Given the description of an element on the screen output the (x, y) to click on. 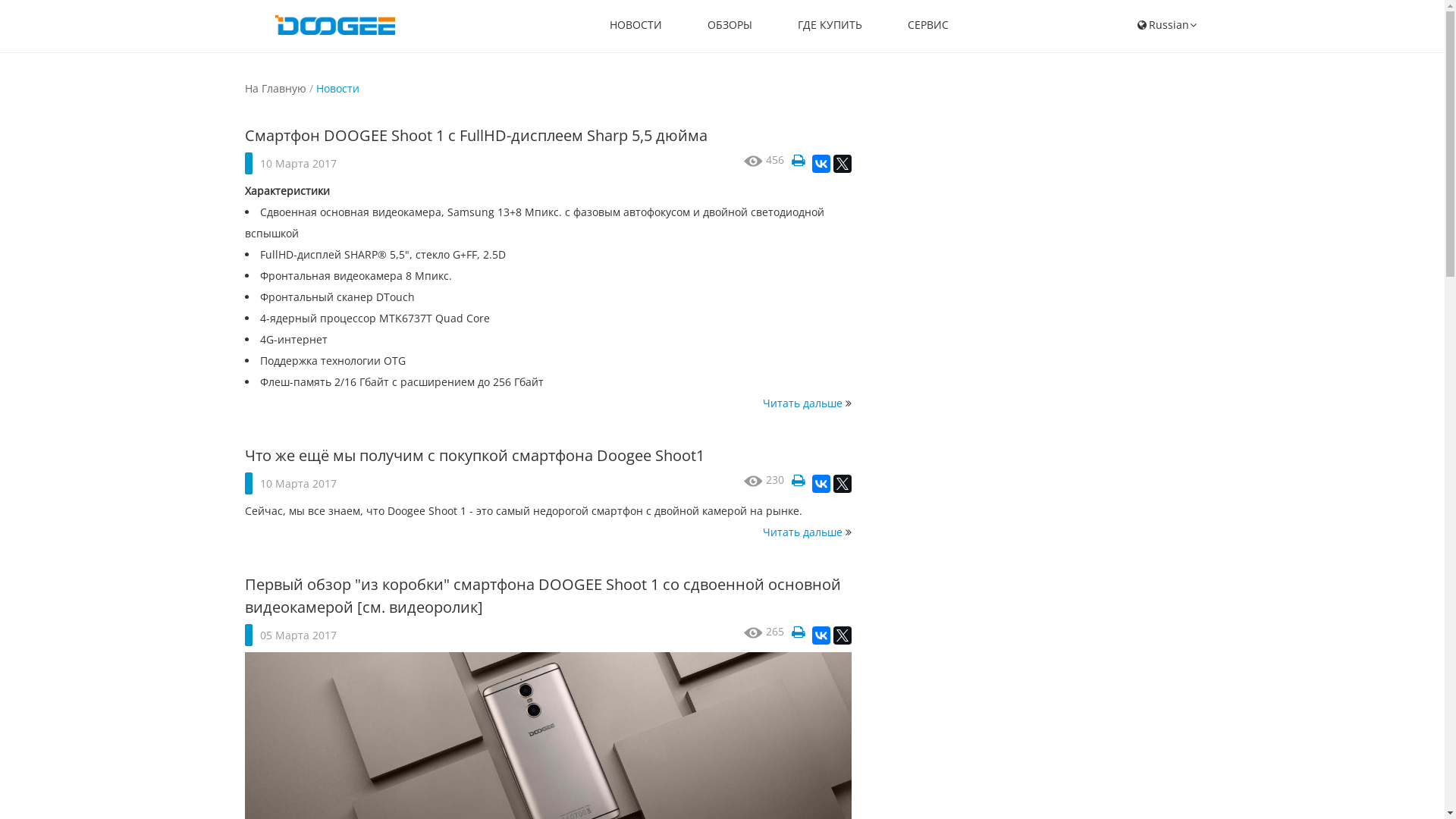
Twitter Element type: hover (841, 483)
Twitter Element type: hover (841, 163)
Twitter Element type: hover (841, 635)
